Given the description of an element on the screen output the (x, y) to click on. 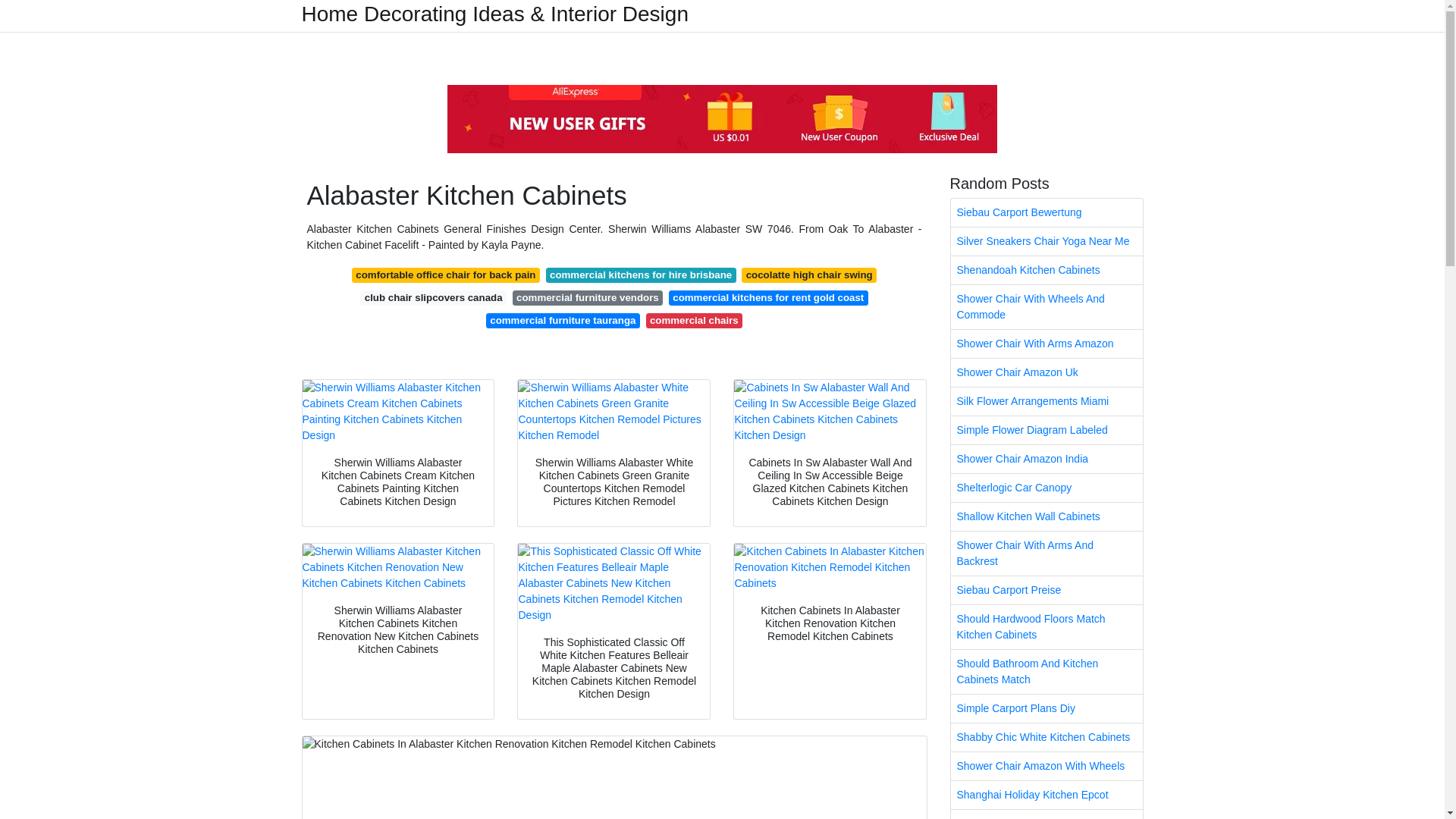
commercial furniture vendors (587, 297)
Shower Chair Amazon Uk (1046, 372)
Silk Flower Arrangements Miami (1046, 401)
Simple Flower Diagram Labeled (1046, 430)
commercial kitchens for hire brisbane (641, 274)
Silver Sneakers Chair Yoga Near Me (1046, 241)
Shower Chair With Arms Amazon (1046, 343)
Shower Chair Amazon India (1046, 459)
Siebau Carport Bewertung (1046, 212)
commercial kitchens for rent gold coast (767, 297)
